Given the description of an element on the screen output the (x, y) to click on. 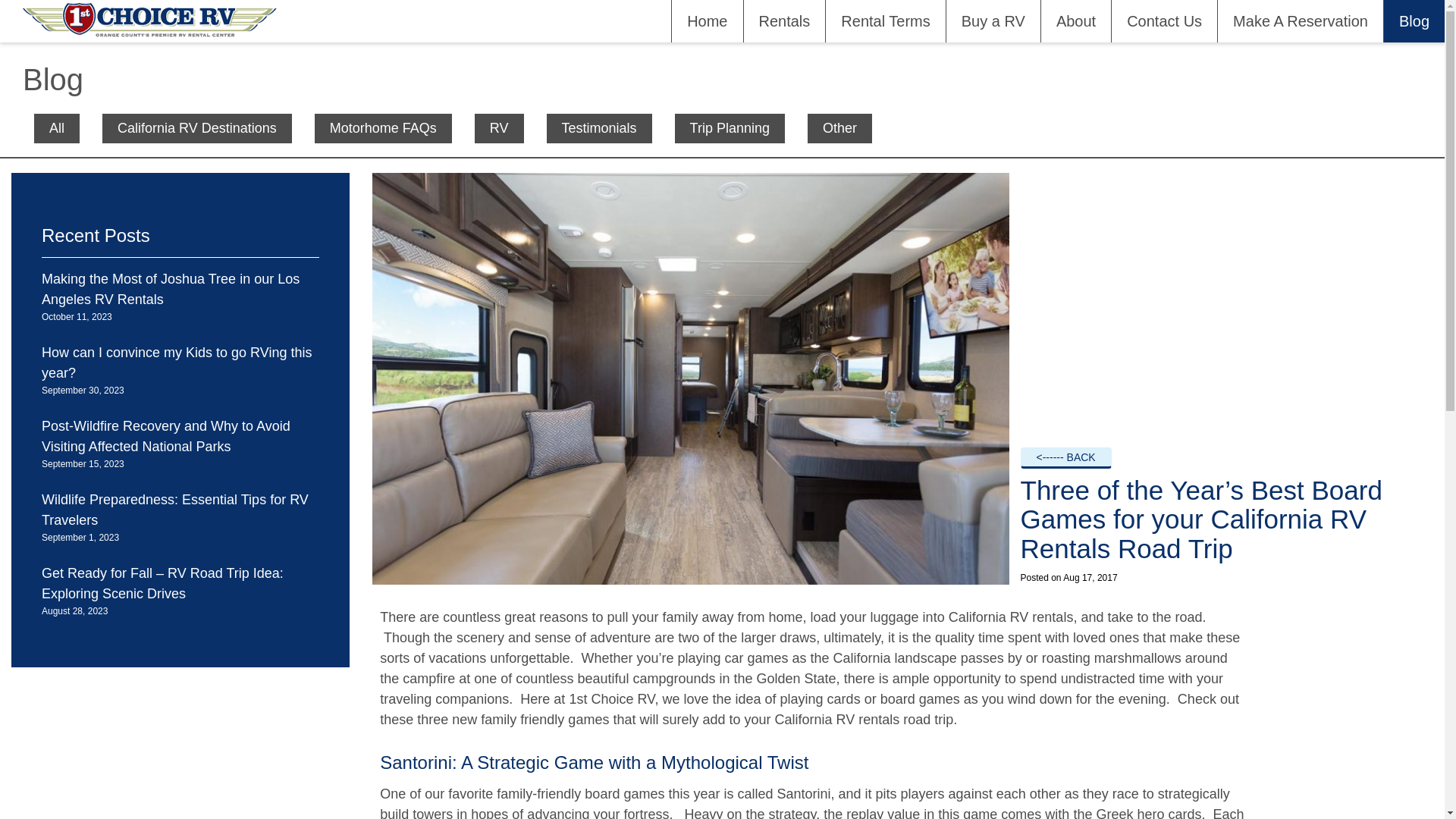
RV Element type: text (498, 127)
Rentals Element type: text (784, 21)
Buy a RV Element type: text (992, 21)
All Element type: text (56, 127)
Trip Planning Element type: text (729, 127)
California RV Destinations Element type: text (196, 127)
Testimonials Element type: text (599, 127)
Other Element type: text (839, 127)
Making the Most of Joshua Tree in our Los Angeles RV Rentals Element type: text (170, 289)
How can I convince my Kids to go RVing this year? Element type: text (176, 362)
Contact Us Element type: text (1163, 21)
Motorhome FAQs Element type: text (382, 127)
<------ BACK Element type: text (1065, 457)
Wildlife Preparedness: Essential Tips for RV Travelers Element type: text (174, 509)
Home Element type: text (706, 21)
Blog Element type: text (1413, 21)
About Element type: text (1075, 21)
Rental Terms Element type: text (884, 21)
Make A Reservation Element type: text (1300, 21)
